Given the description of an element on the screen output the (x, y) to click on. 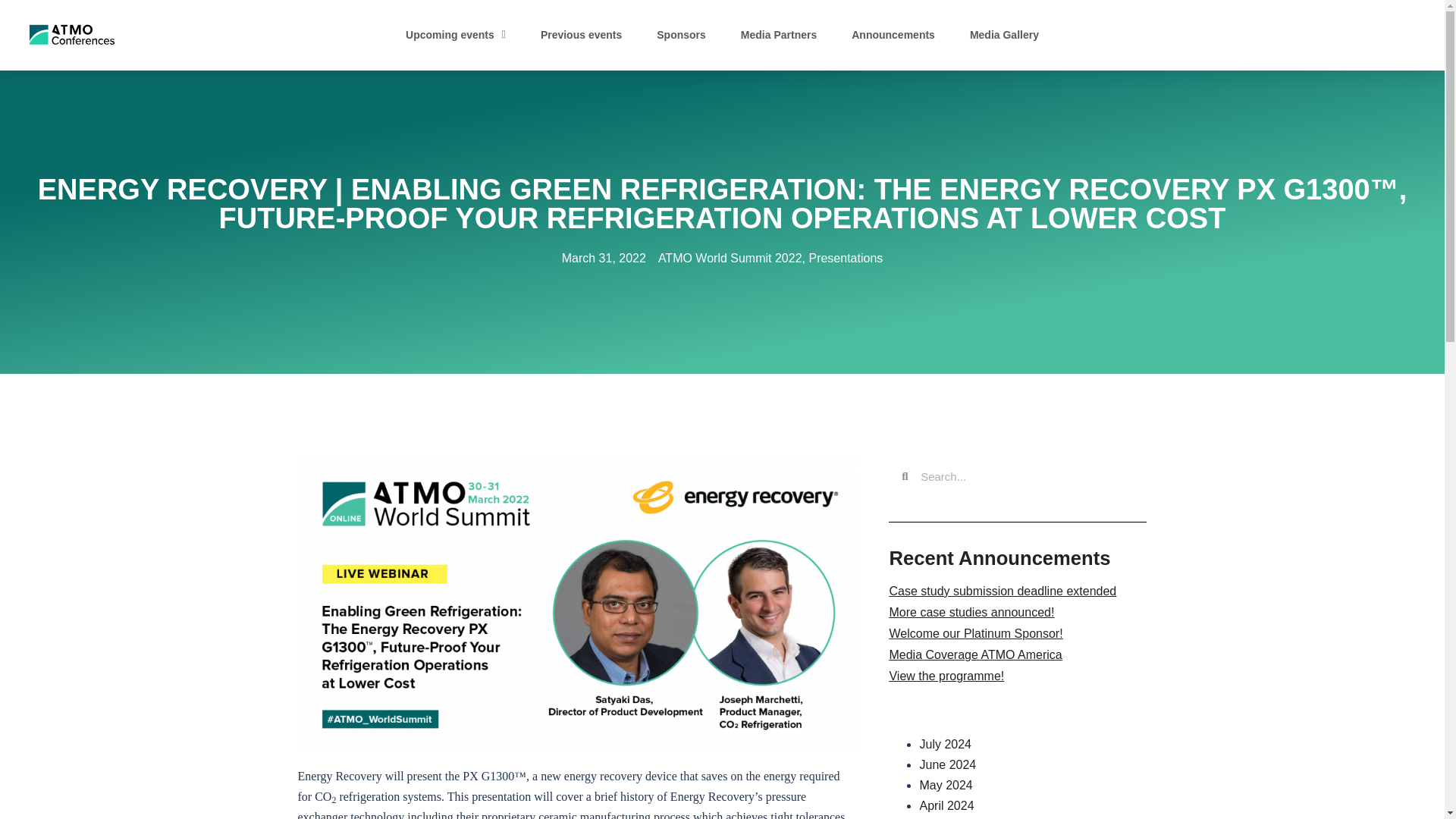
Sponsors (681, 34)
Announcements (892, 34)
Case study submission deadline extended (1002, 590)
Media Gallery (1004, 34)
Previous events (581, 34)
Media Partners (778, 34)
Presentations (845, 257)
ATMO World Summit 2022 (730, 257)
Upcoming events (455, 34)
